Given the description of an element on the screen output the (x, y) to click on. 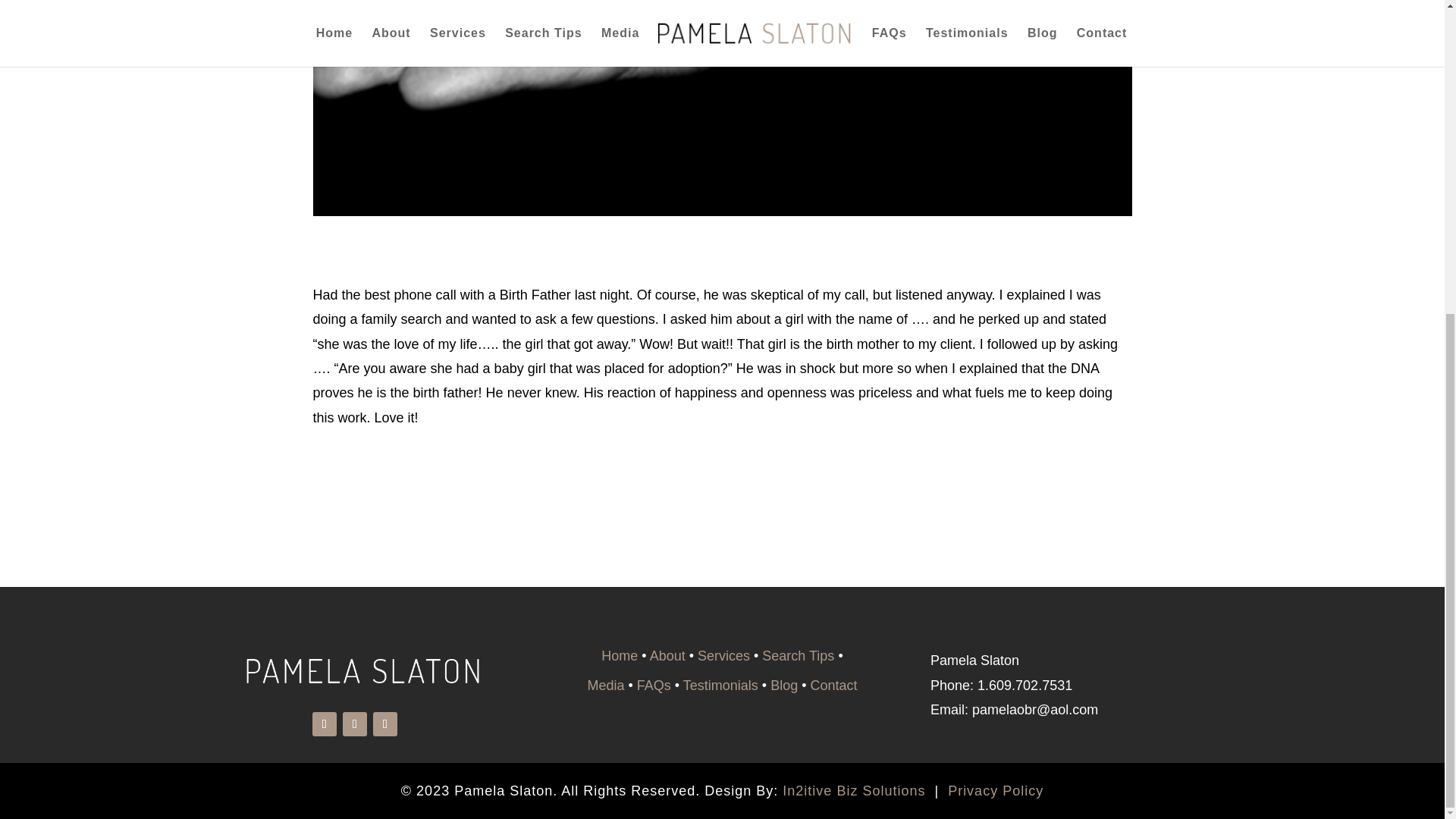
Blog (783, 685)
FAQs (654, 685)
Services (723, 655)
Home (619, 655)
Follow on X (354, 723)
Follow on Instagram (384, 723)
Media (605, 685)
Search Tips (797, 655)
About (667, 655)
Contact (833, 685)
Testimonials (720, 685)
Follow on Facebook (324, 723)
Privacy Policy (995, 790)
In2itive Biz Solutions (853, 790)
Pamela-Slaton-Logo-copy-All-White-1 (396, 678)
